Given the description of an element on the screen output the (x, y) to click on. 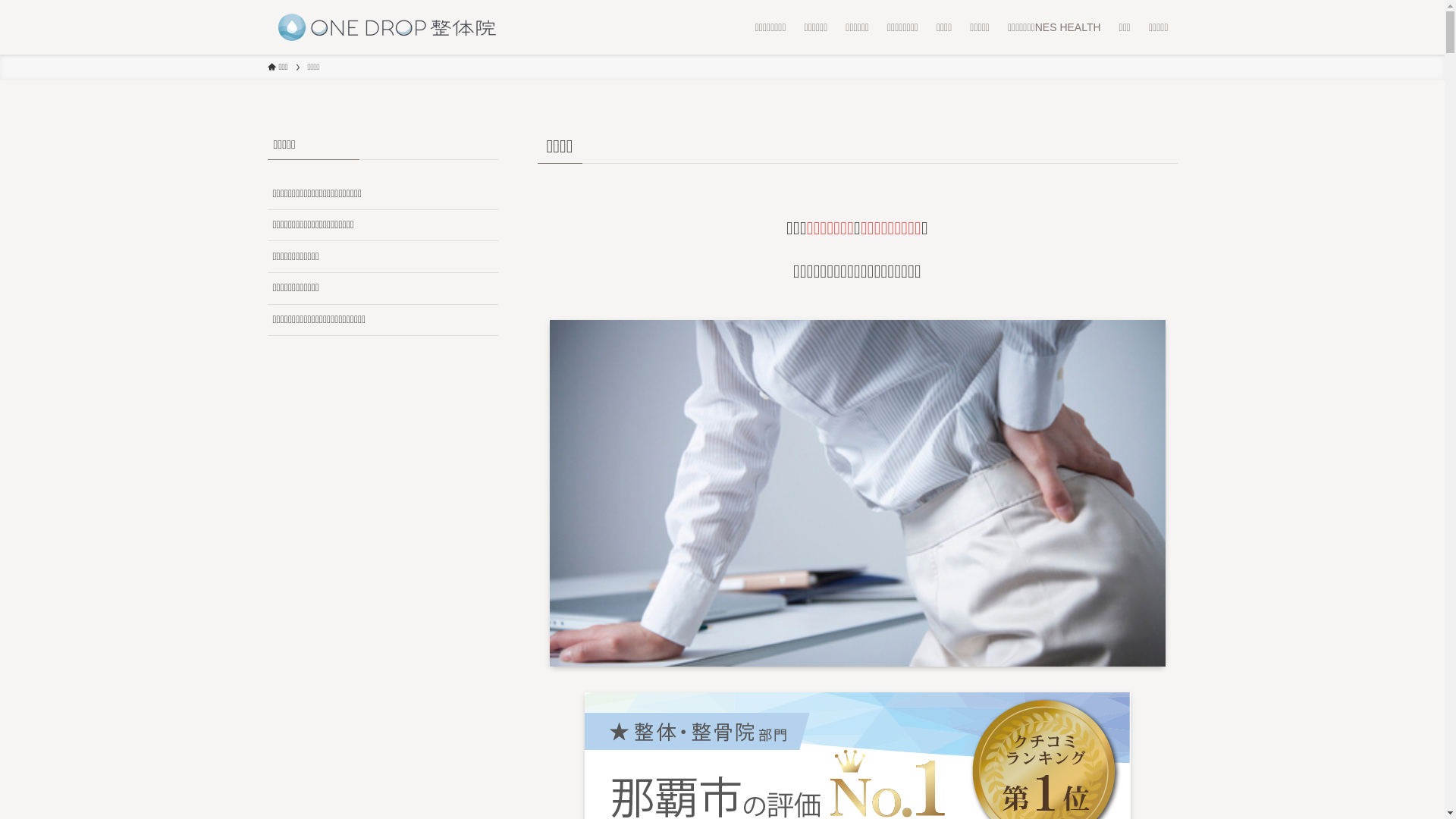
search Element type: text (921, 421)
